Given the description of an element on the screen output the (x, y) to click on. 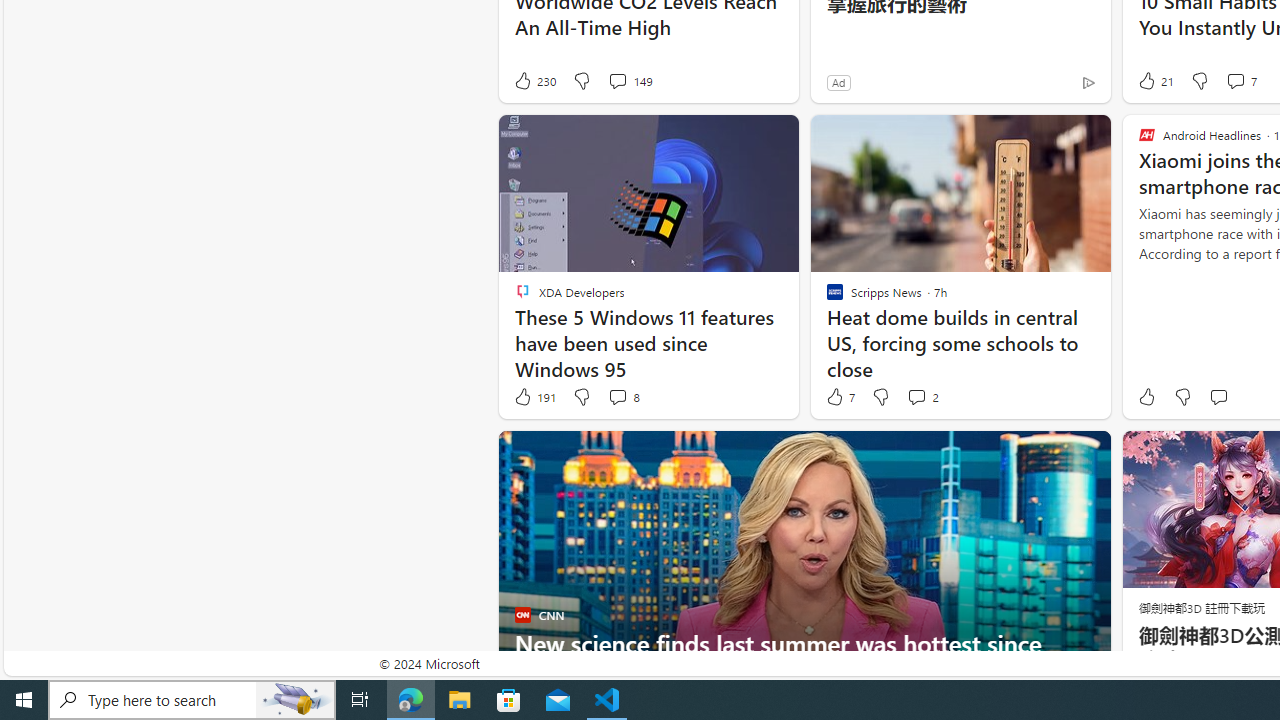
View comments 8 Comment (623, 397)
191 Like (534, 397)
Like (1145, 397)
View comments 2 Comment (916, 396)
